Given the description of an element on the screen output the (x, y) to click on. 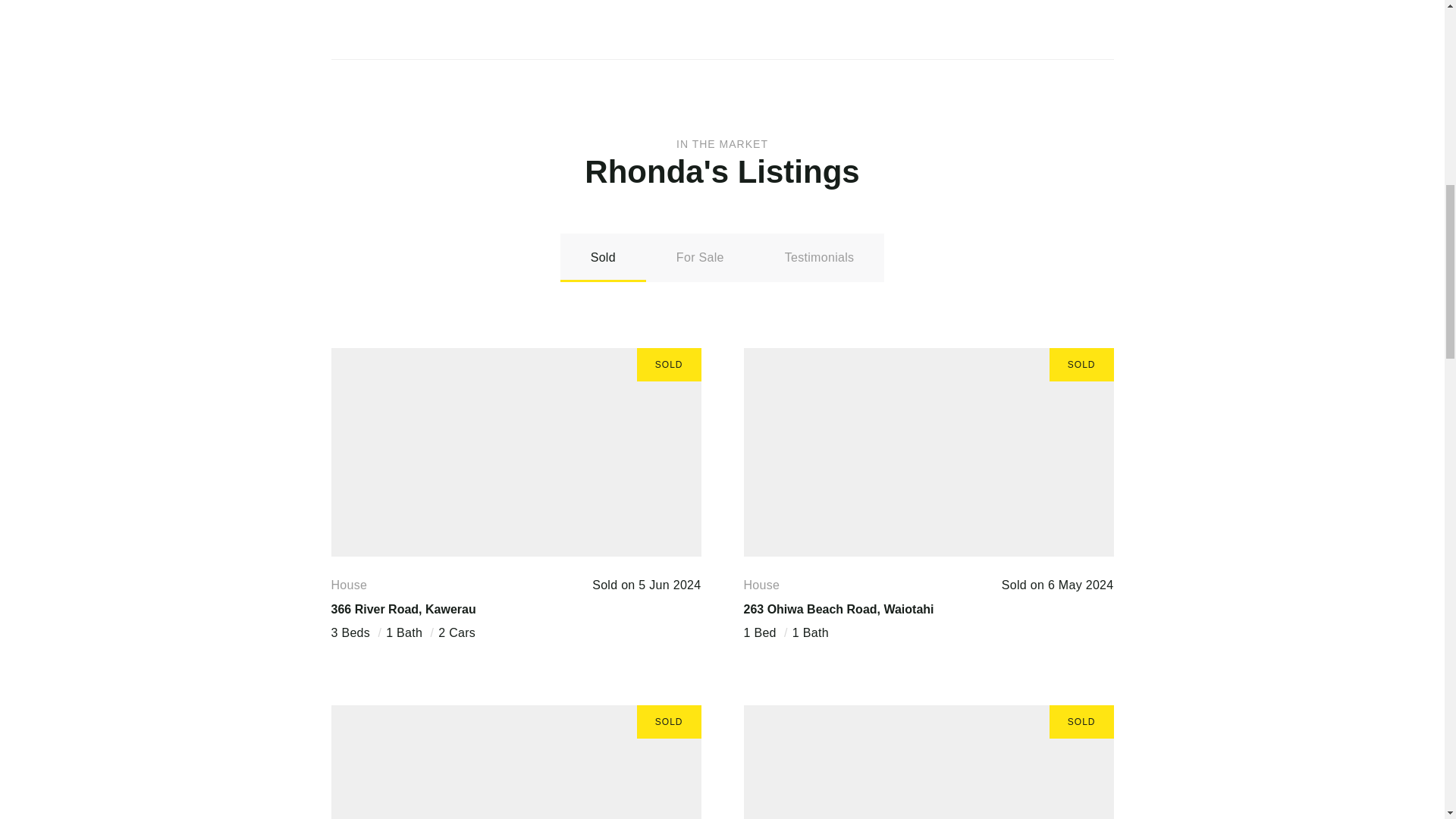
SOLD (927, 762)
366 River Road, Kawerau (403, 608)
263 Ohiwa Beach Road, Waiotahi (837, 608)
SOLD (927, 452)
SOLD (515, 762)
SOLD (515, 452)
